Given the description of an element on the screen output the (x, y) to click on. 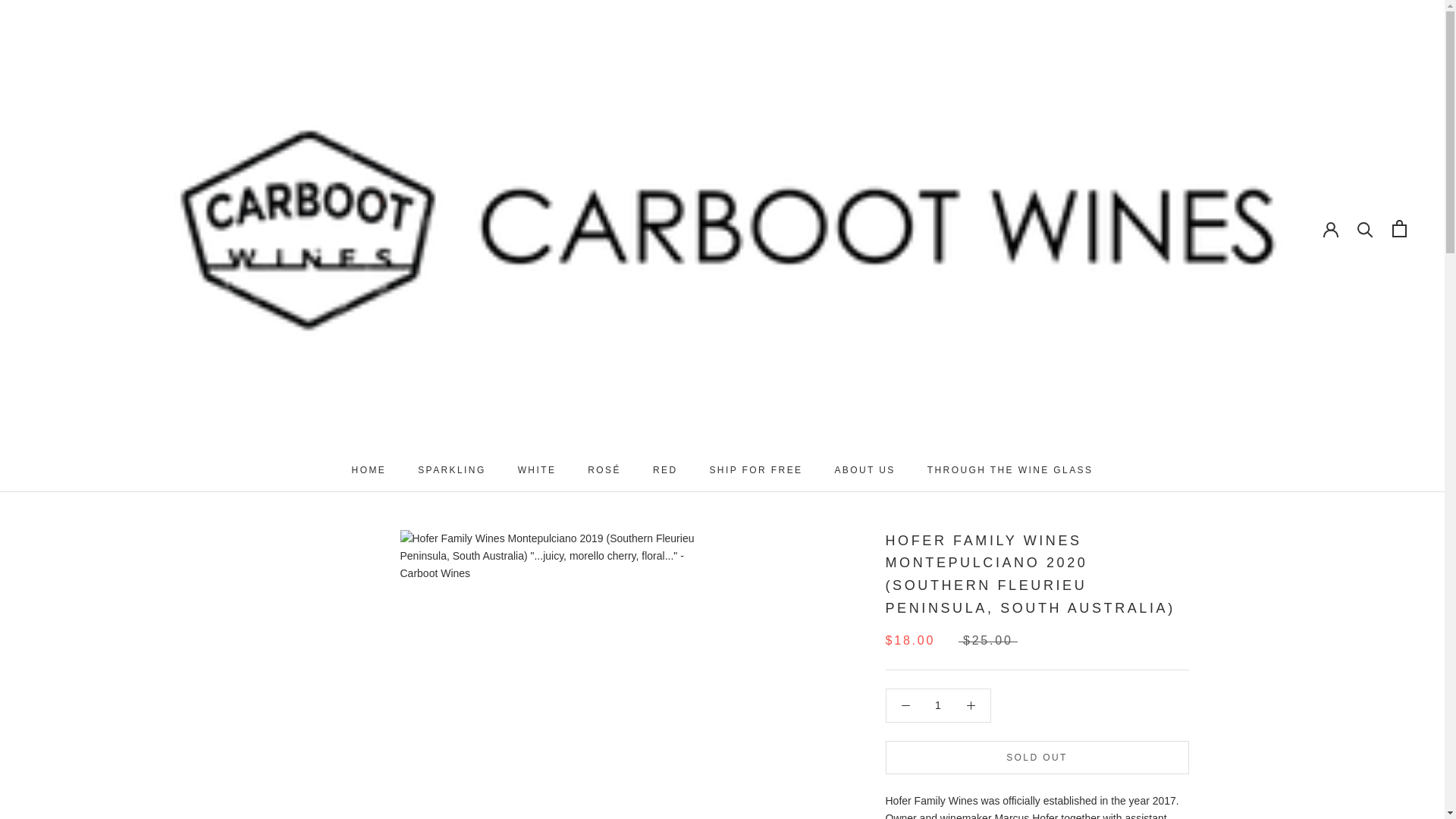
1 (938, 705)
